Given the description of an element on the screen output the (x, y) to click on. 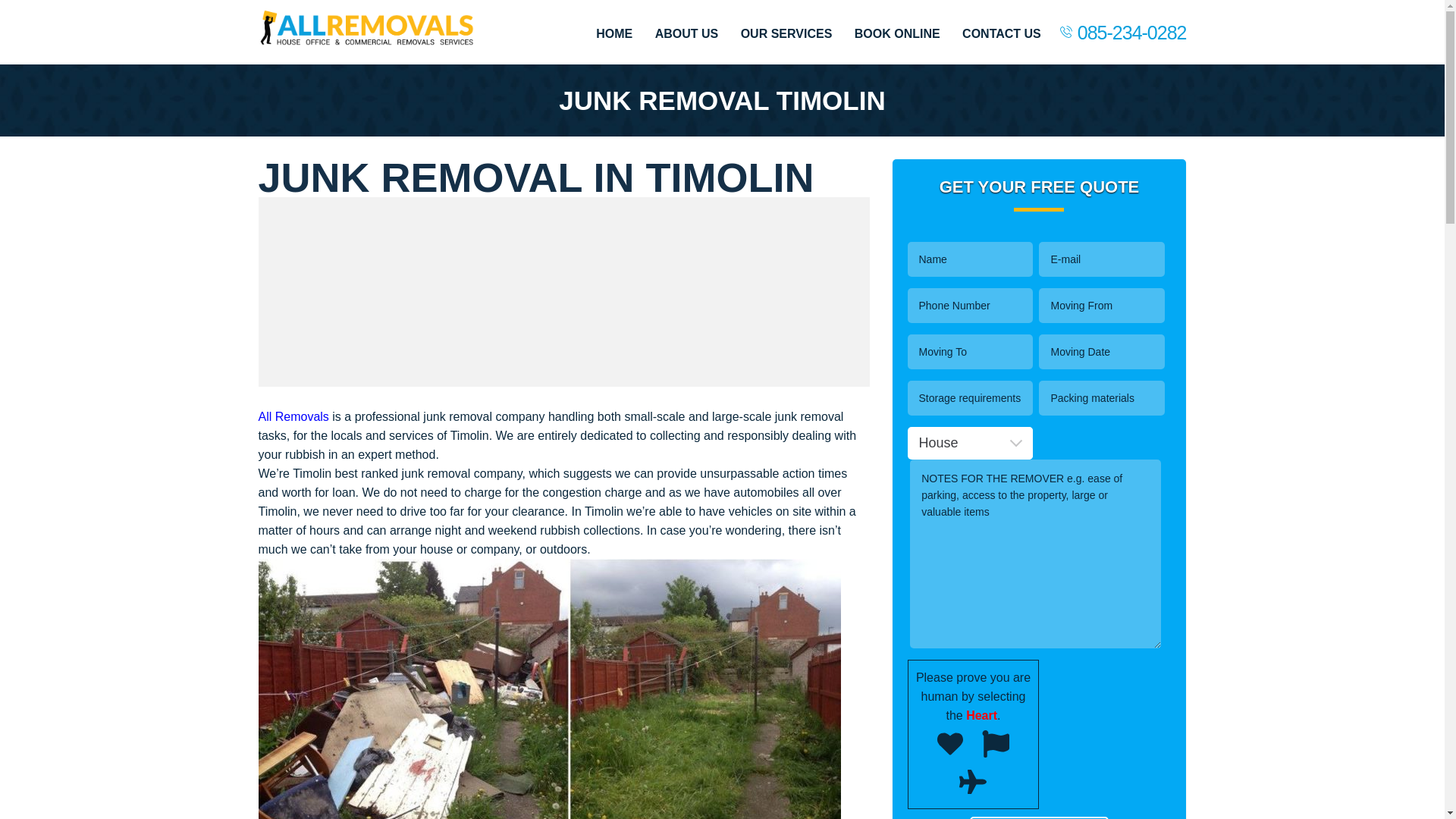
085-234-0282 (1131, 32)
OUR SERVICES (786, 33)
ABOUT US (687, 33)
CONTACT US (1001, 33)
Get Free Quote (1038, 817)
HOME (613, 33)
BOOK ONLINE (897, 33)
All Removals (293, 416)
